Given the description of an element on the screen output the (x, y) to click on. 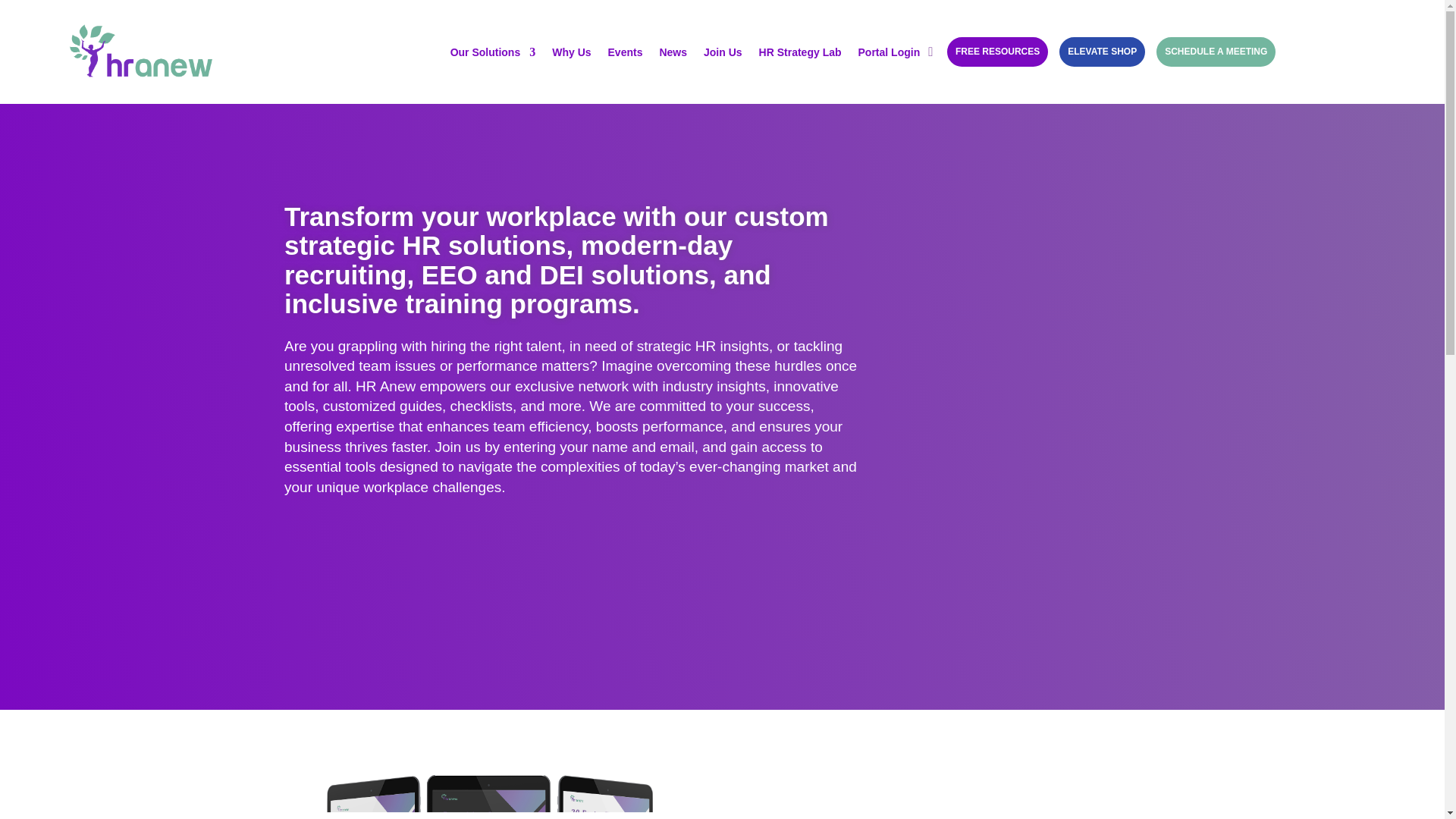
SCHEDULE A MEETING (1215, 51)
ELEVATE SHOP (1101, 51)
Psda (490, 793)
Portal Login (889, 51)
FREE RESOURCES (997, 51)
Our Solutions (492, 51)
wpforms-submit (790, 561)
HR Strategy Lab (799, 51)
